Given the description of an element on the screen output the (x, y) to click on. 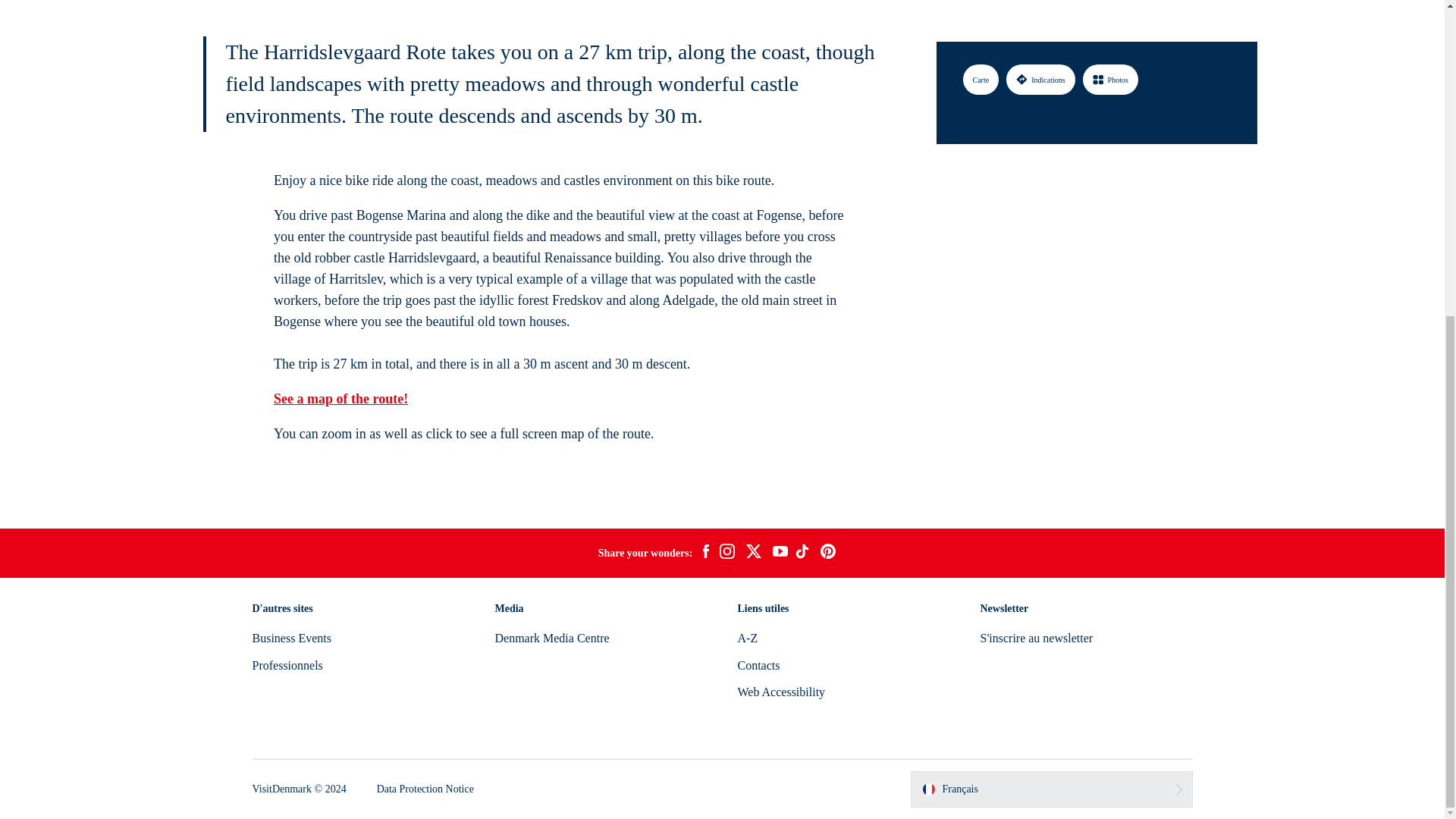
Professionnels (286, 665)
Data Protection Notice (425, 789)
facebook (705, 553)
See a map of the route! (340, 398)
A-Z (746, 637)
Contacts (757, 665)
tiktok (804, 553)
instagram (726, 553)
Professionnels (286, 665)
Data Protection Notice (425, 789)
